Given the description of an element on the screen output the (x, y) to click on. 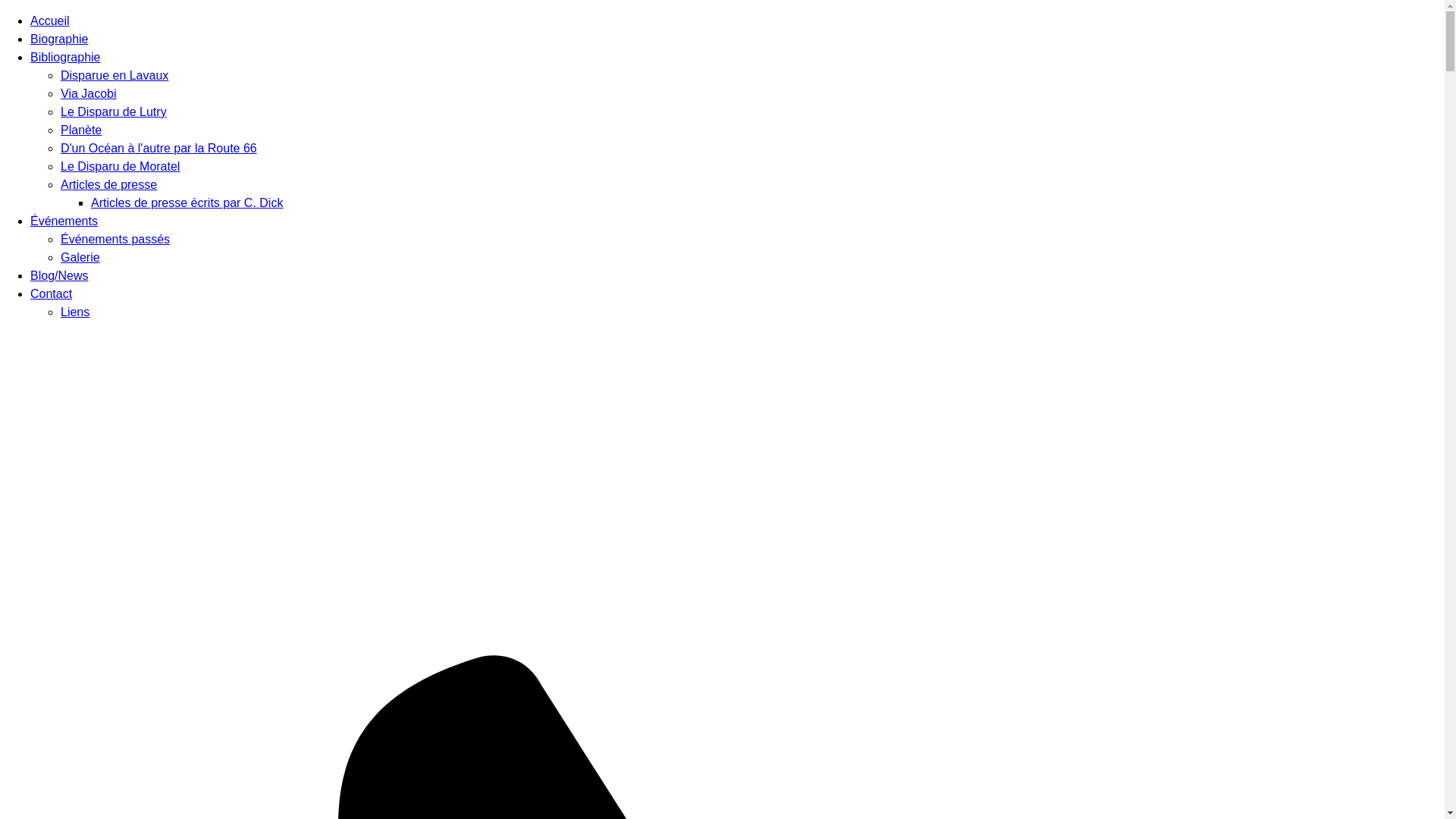
Contact Element type: text (51, 293)
Biographie Element type: text (59, 38)
Accueil Element type: text (49, 20)
Le Disparu de Moratel Element type: text (119, 166)
Galerie Element type: text (80, 257)
Blog/News Element type: text (58, 275)
Bibliographie Element type: text (65, 56)
Disparue en Lavaux Element type: text (114, 75)
Articles de presse Element type: text (108, 184)
Via Jacobi Element type: text (88, 93)
Le Disparu de Lutry Element type: text (113, 111)
Liens Element type: text (74, 311)
